Given the description of an element on the screen output the (x, y) to click on. 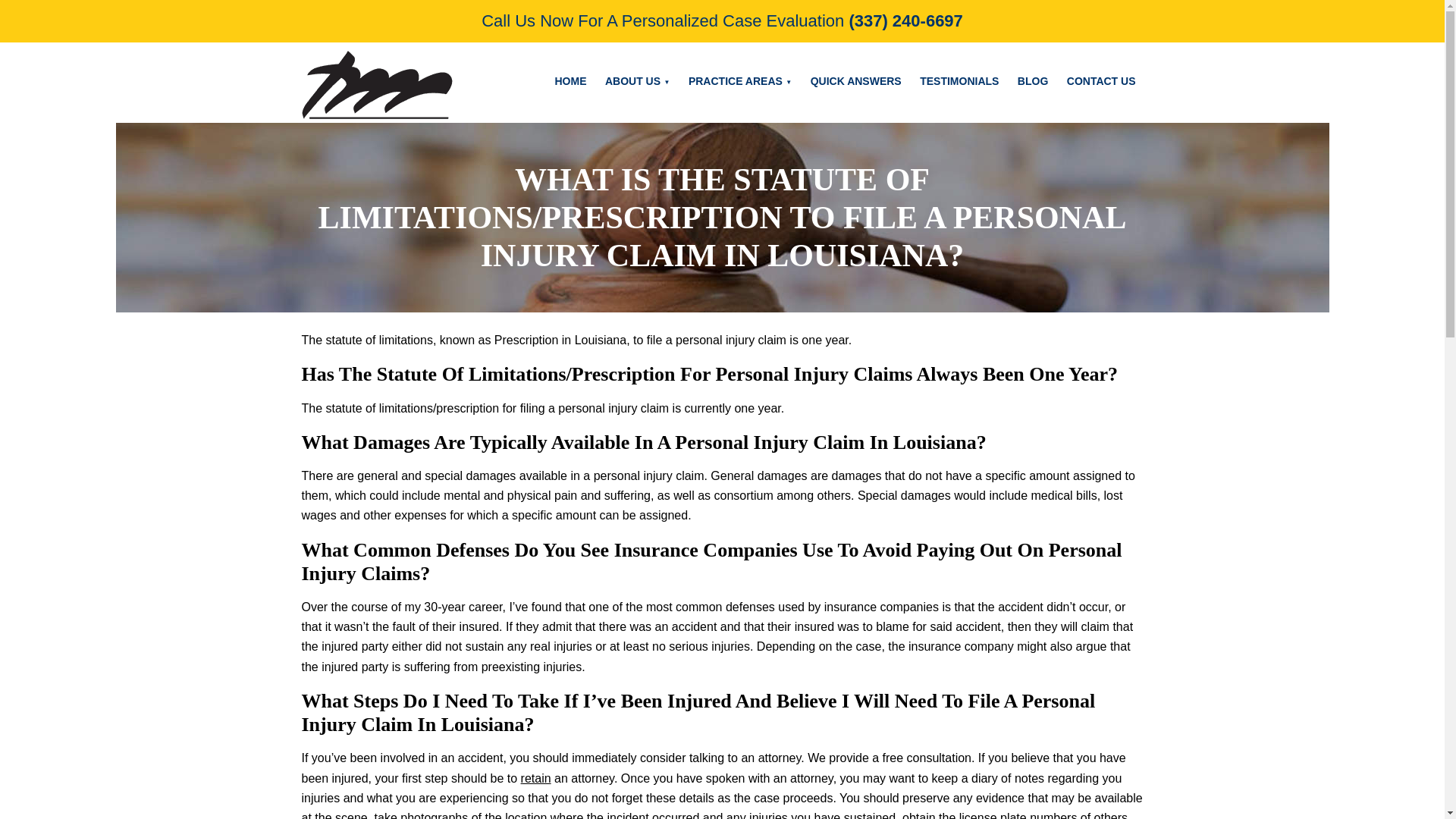
ABOUT US (637, 81)
